Given the description of an element on the screen output the (x, y) to click on. 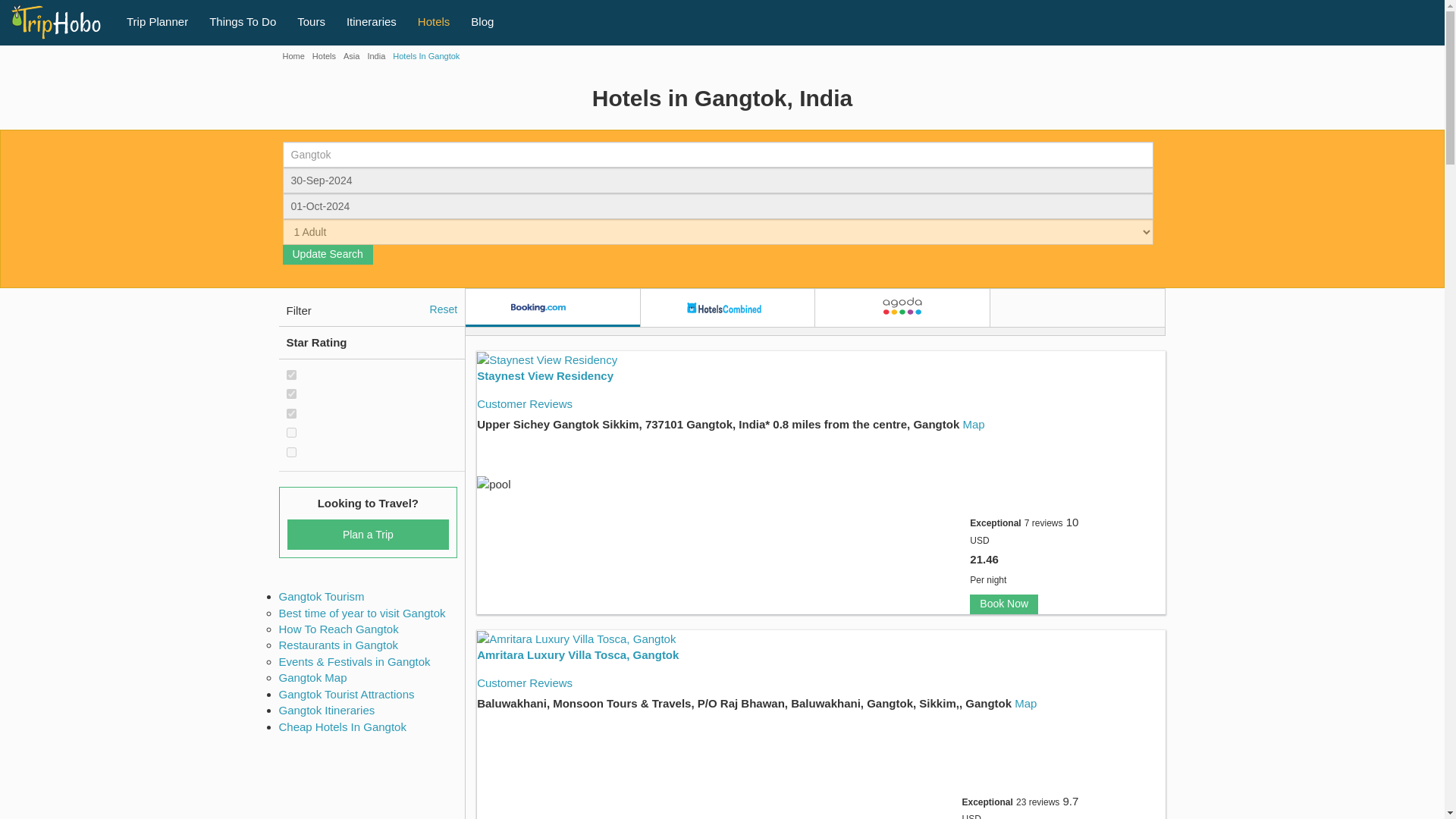
Reset (443, 309)
5 (291, 375)
Created with Fabric.js 5.2.4 (723, 307)
Staynest View Residency (544, 375)
Best time of year to visit Gangtok (362, 612)
Map (973, 423)
Itineraries (371, 20)
01-Oct-2024 (717, 206)
Created with Fabric.js 5.2.4 (556, 307)
2 (291, 432)
